Given the description of an element on the screen output the (x, y) to click on. 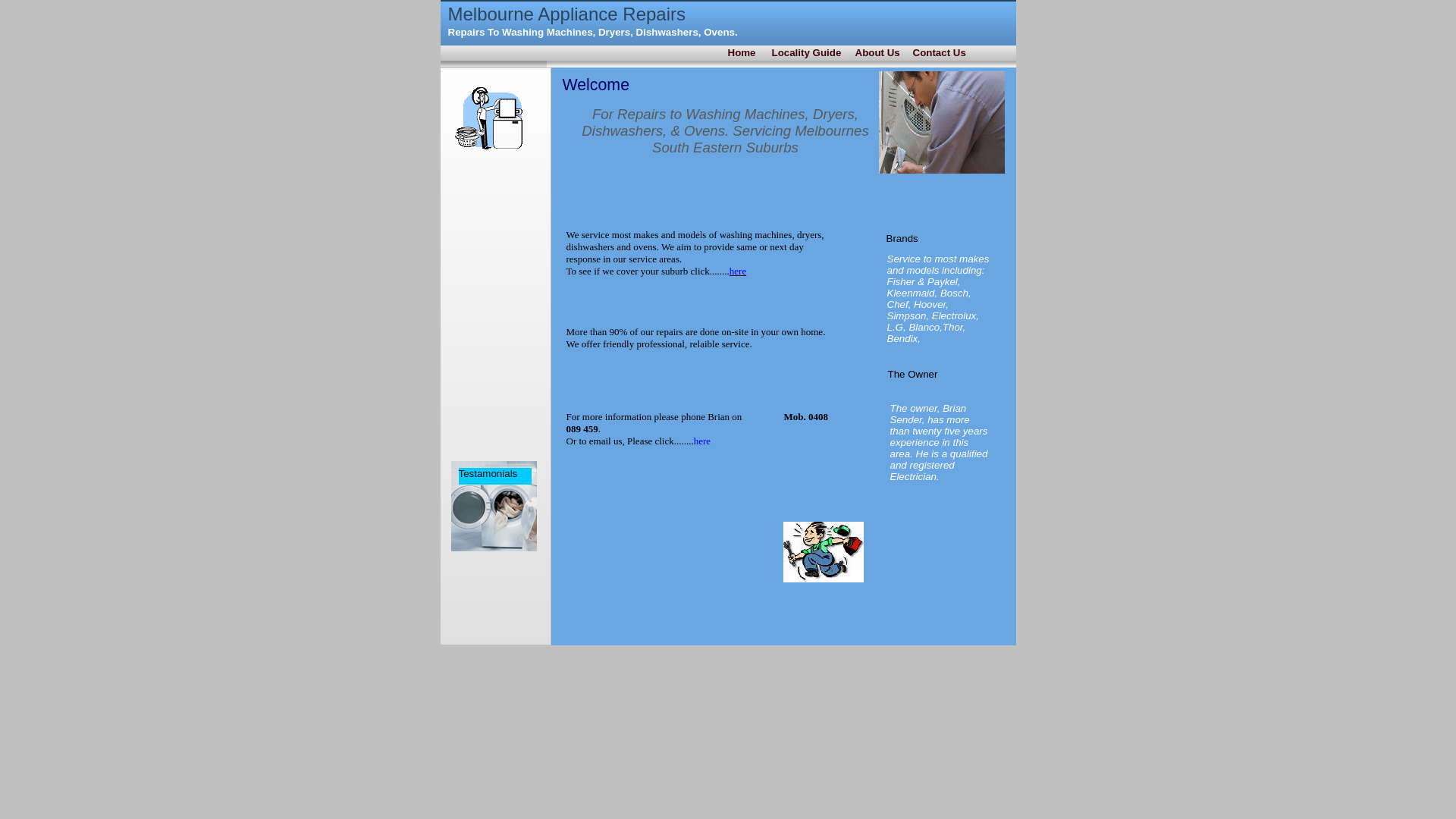
Contact Us Element type: text (939, 52)
Testamonials Element type: text (487, 473)
Home Element type: text (742, 52)
here Element type: text (737, 270)
here Element type: text (701, 439)
Locality Guide Element type: text (806, 52)
About Us Element type: text (877, 52)
